Given the description of an element on the screen output the (x, y) to click on. 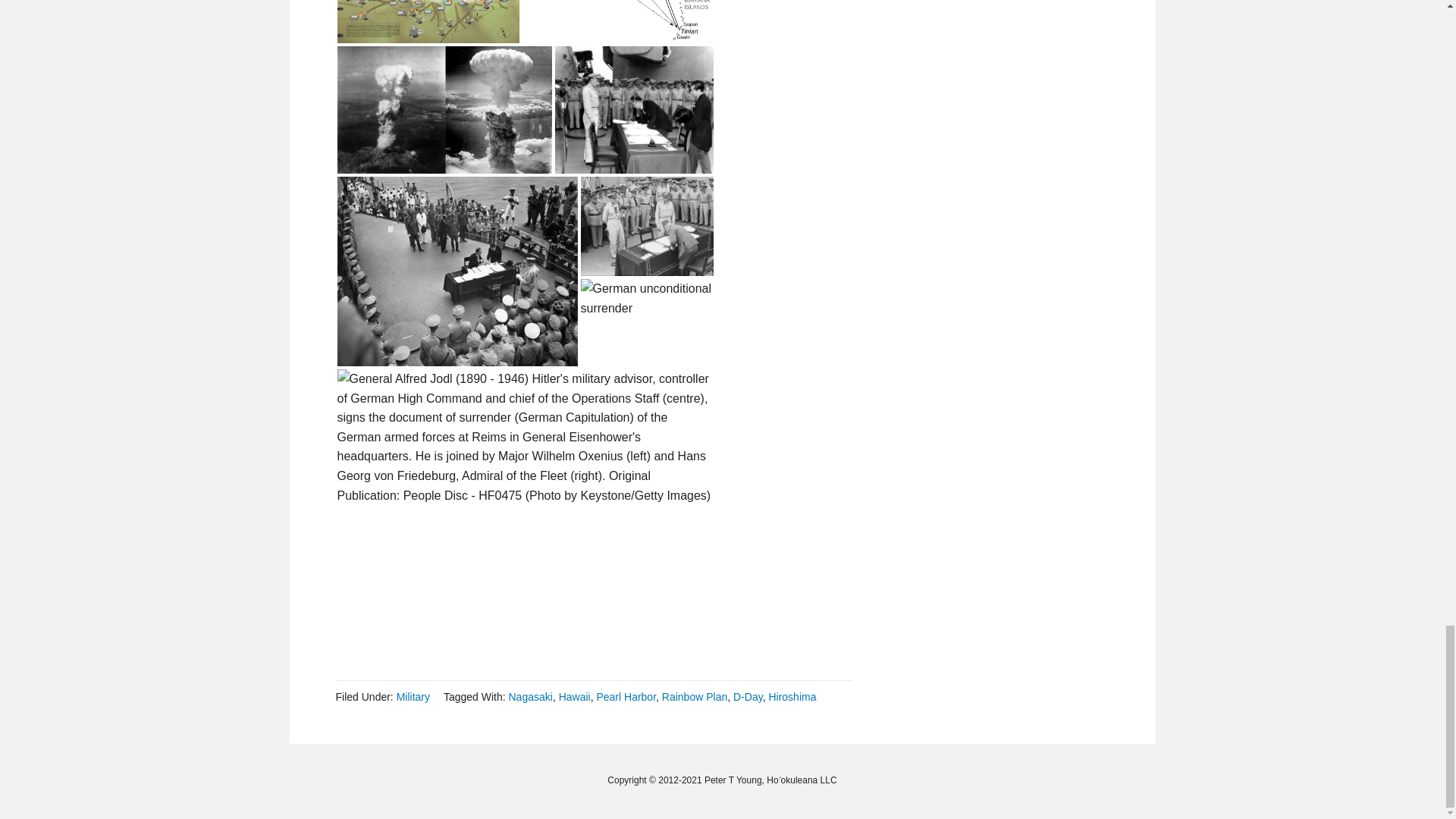
Japan surrender (646, 226)
Surrender of the Japanese on the USS (456, 271)
Pearl Harbor (625, 696)
Hiroshima (791, 696)
Nagasaki (529, 696)
Japan unconditional surrender (633, 109)
Landing-Corridors-D-Day (427, 21)
D-Day (747, 696)
Hawaii (575, 696)
Military (412, 696)
